Given the description of an element on the screen output the (x, y) to click on. 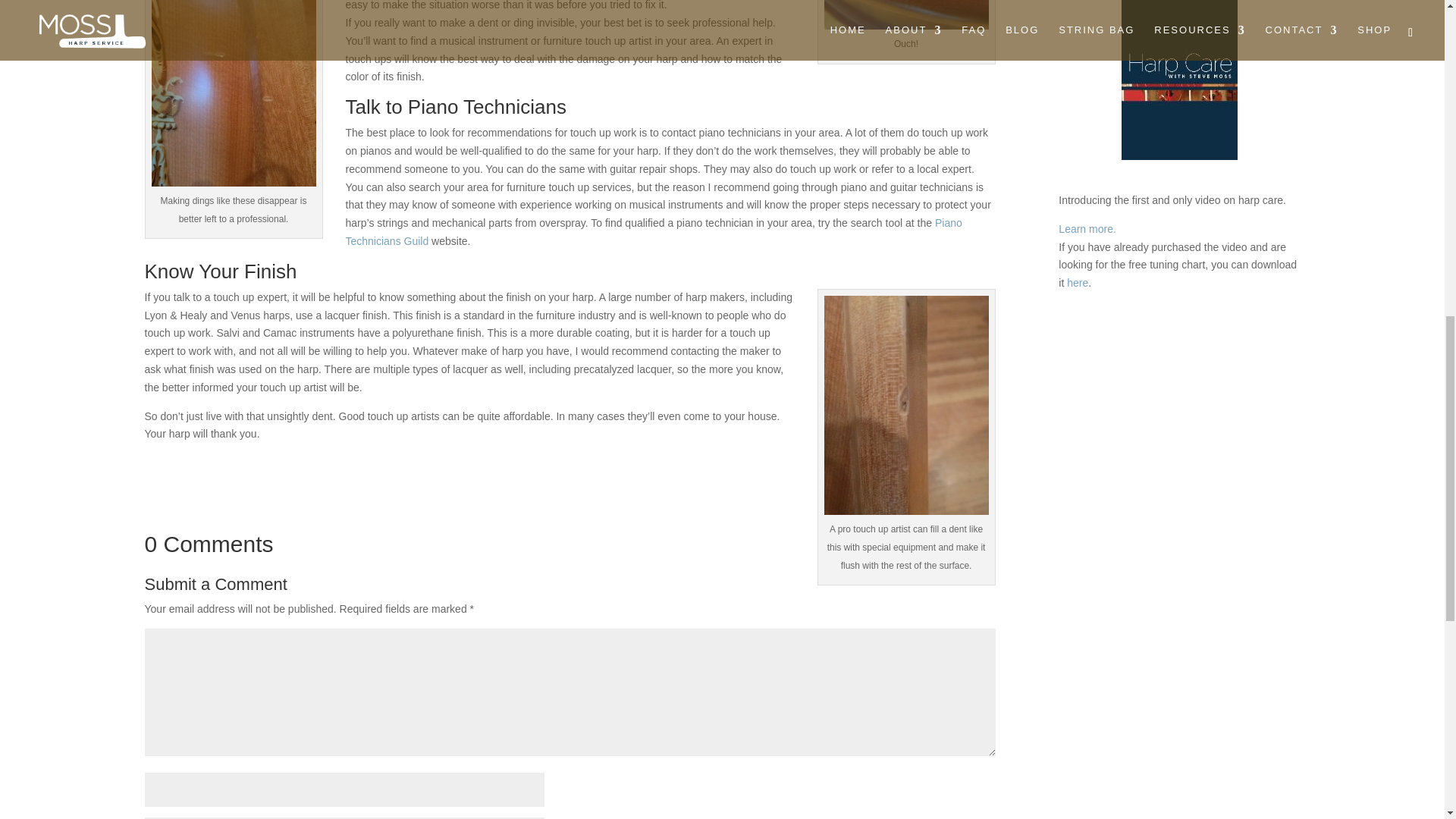
Piano Technicians Guild (654, 232)
Learn more. (1086, 228)
